Given the description of an element on the screen output the (x, y) to click on. 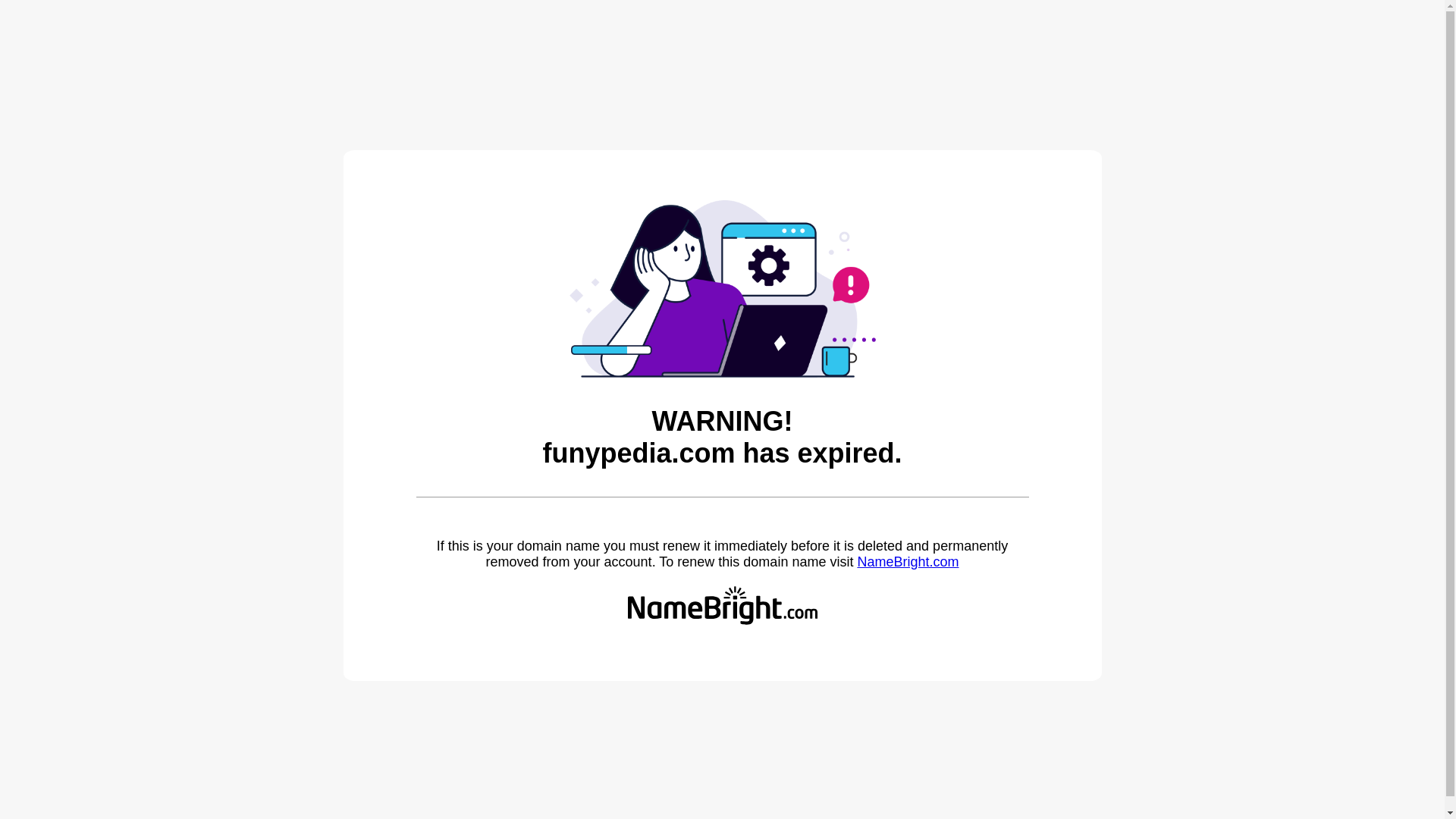
NameBright.com (907, 561)
